Given the description of an element on the screen output the (x, y) to click on. 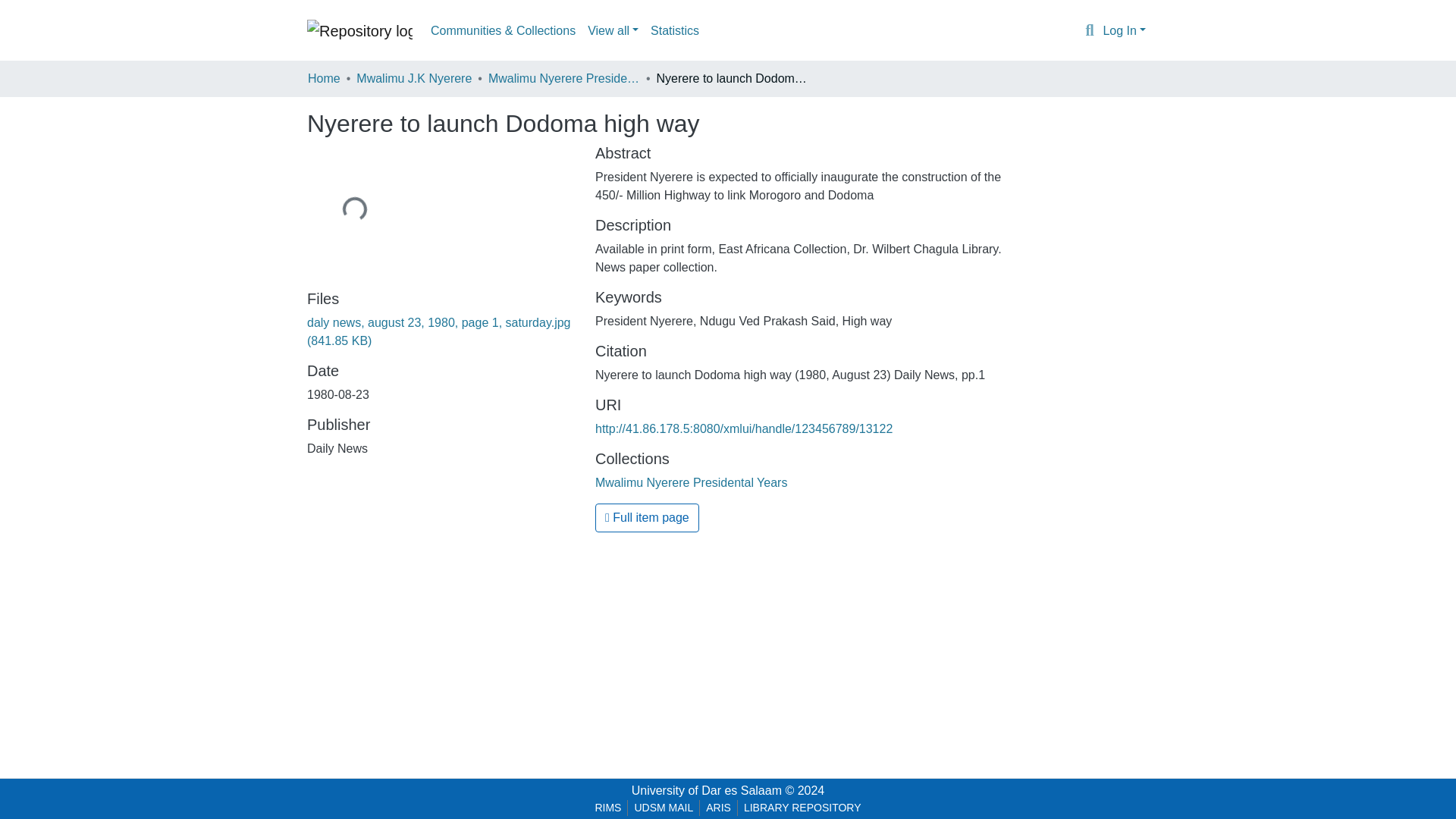
RIMS (607, 807)
UDSM MAIL (662, 807)
Mwalimu Nyerere Presidental Years (691, 481)
Statistics (674, 30)
Mwalimu Nyerere Presidental Years (563, 78)
Mwalimu J.K Nyerere (413, 78)
LIBRARY REPOSITORY (802, 807)
Search (1088, 30)
ARIS (718, 807)
Log In (1123, 30)
